Given the description of an element on the screen output the (x, y) to click on. 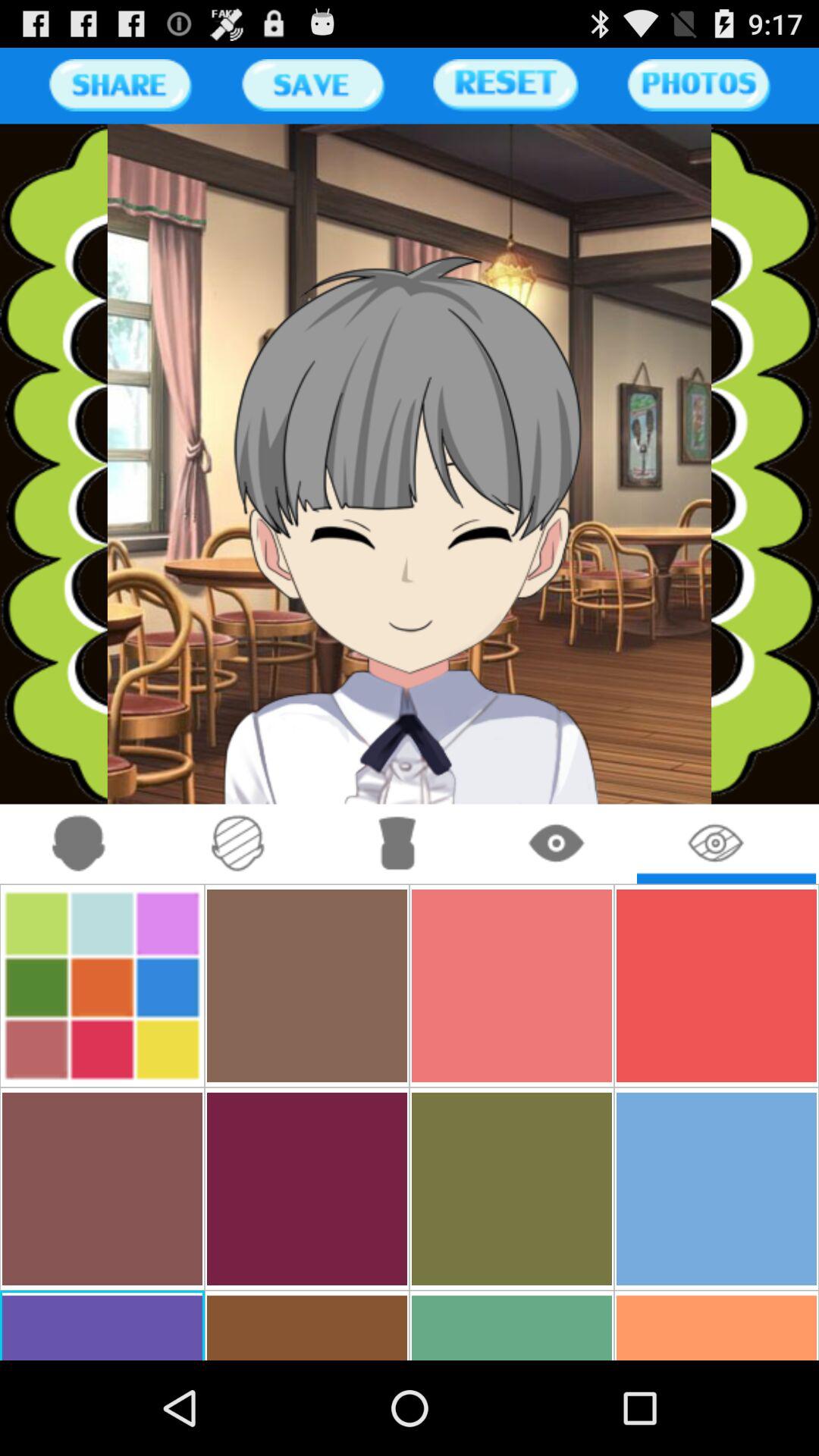
view eye options (557, 843)
